Given the description of an element on the screen output the (x, y) to click on. 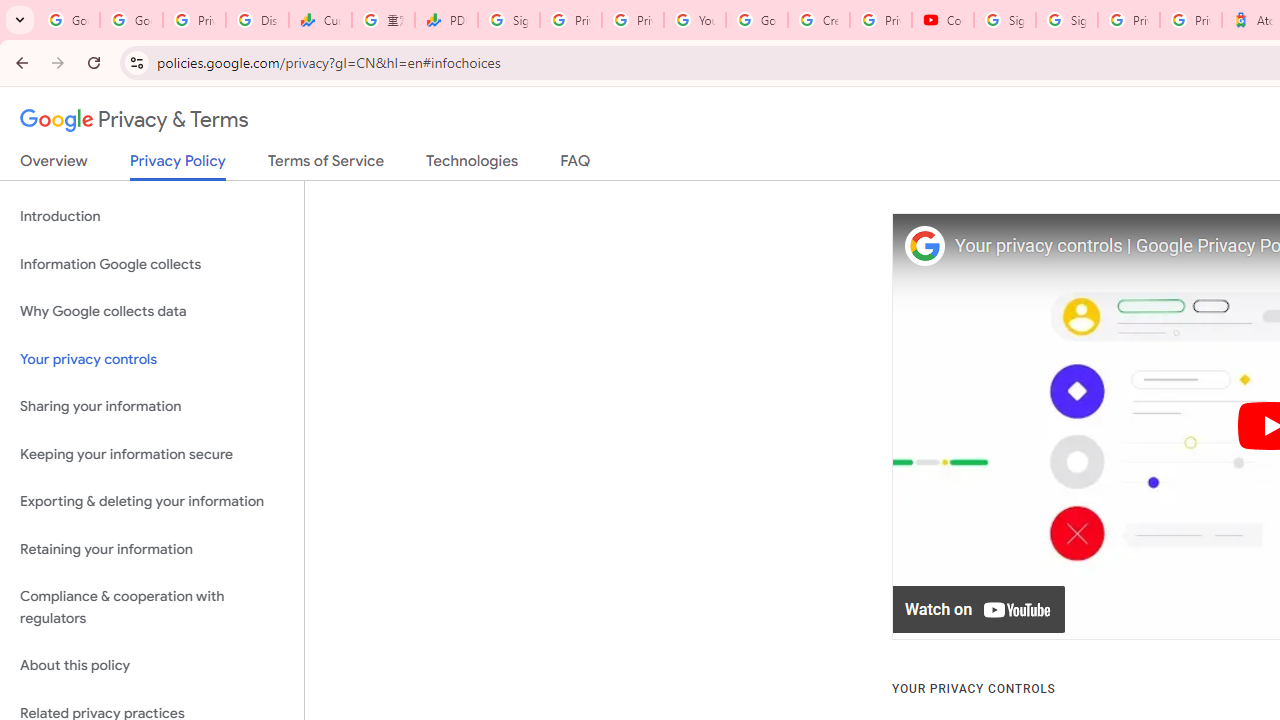
Watch on YouTube (979, 610)
Keeping your information secure (152, 453)
Compliance & cooperation with regulators (152, 607)
Content Creator Programs & Opportunities - YouTube Creators (942, 20)
Exporting & deleting your information (152, 502)
Currencies - Google Finance (320, 20)
Your privacy controls (152, 358)
